Given the description of an element on the screen output the (x, y) to click on. 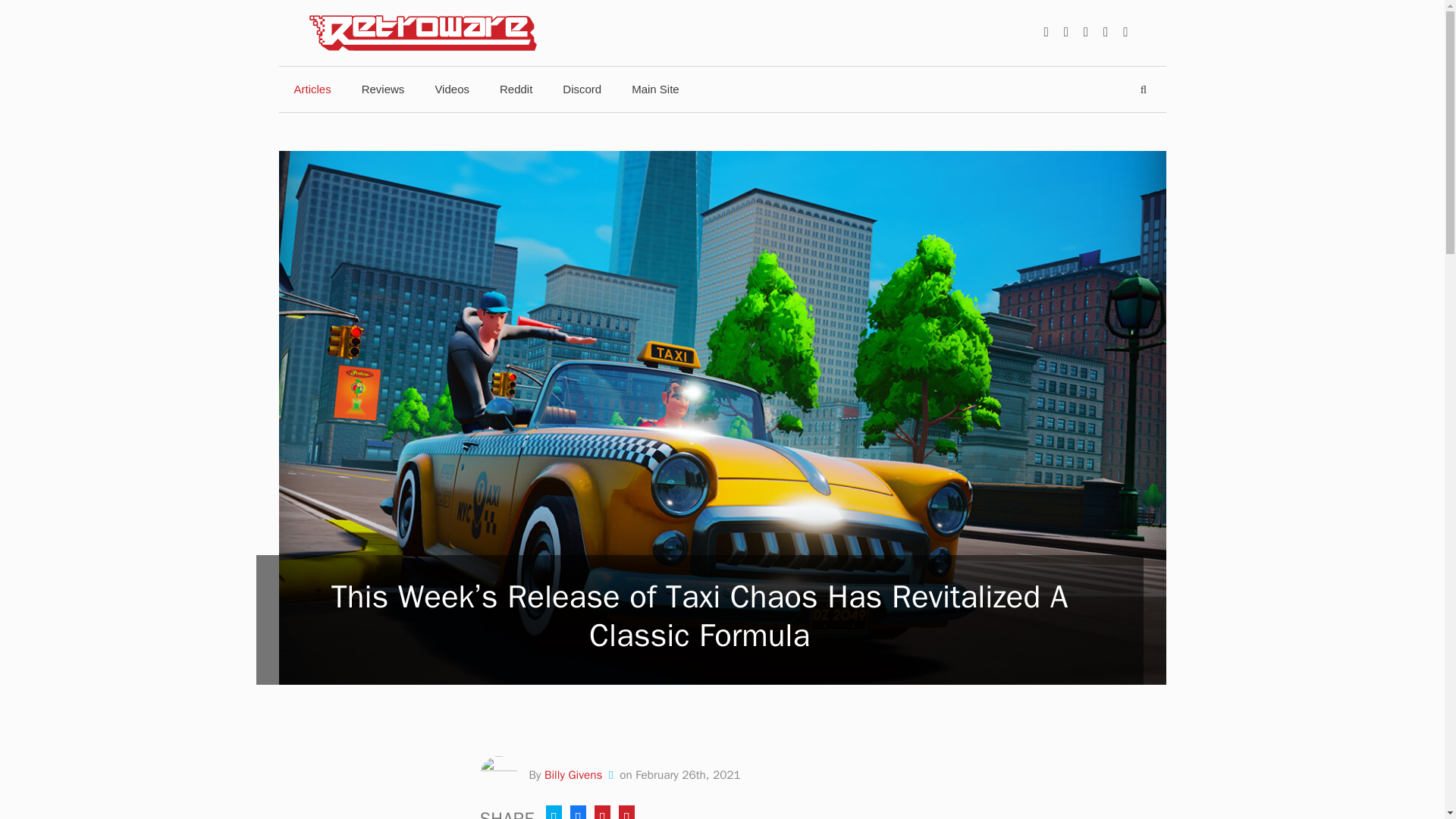
Main Site (654, 89)
Retroware (422, 32)
Billy Givens (573, 774)
Articles (312, 89)
Reviews (383, 89)
Videos (451, 89)
Retroware (422, 32)
Reddit (515, 89)
Discord (581, 89)
